Given the description of an element on the screen output the (x, y) to click on. 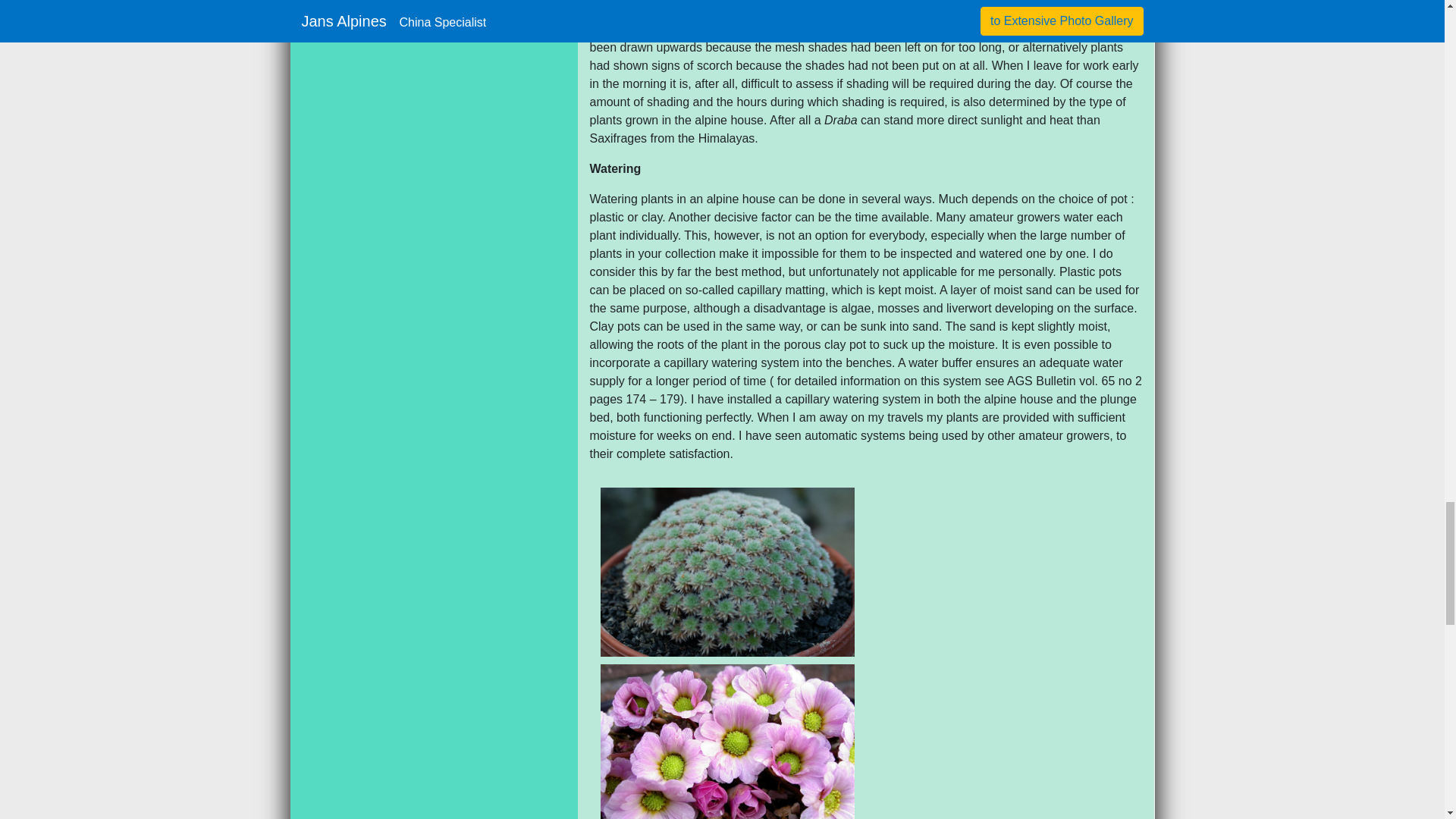
Androsace tapete (726, 571)
Callianthemum anemonoides (726, 741)
